Given the description of an element on the screen output the (x, y) to click on. 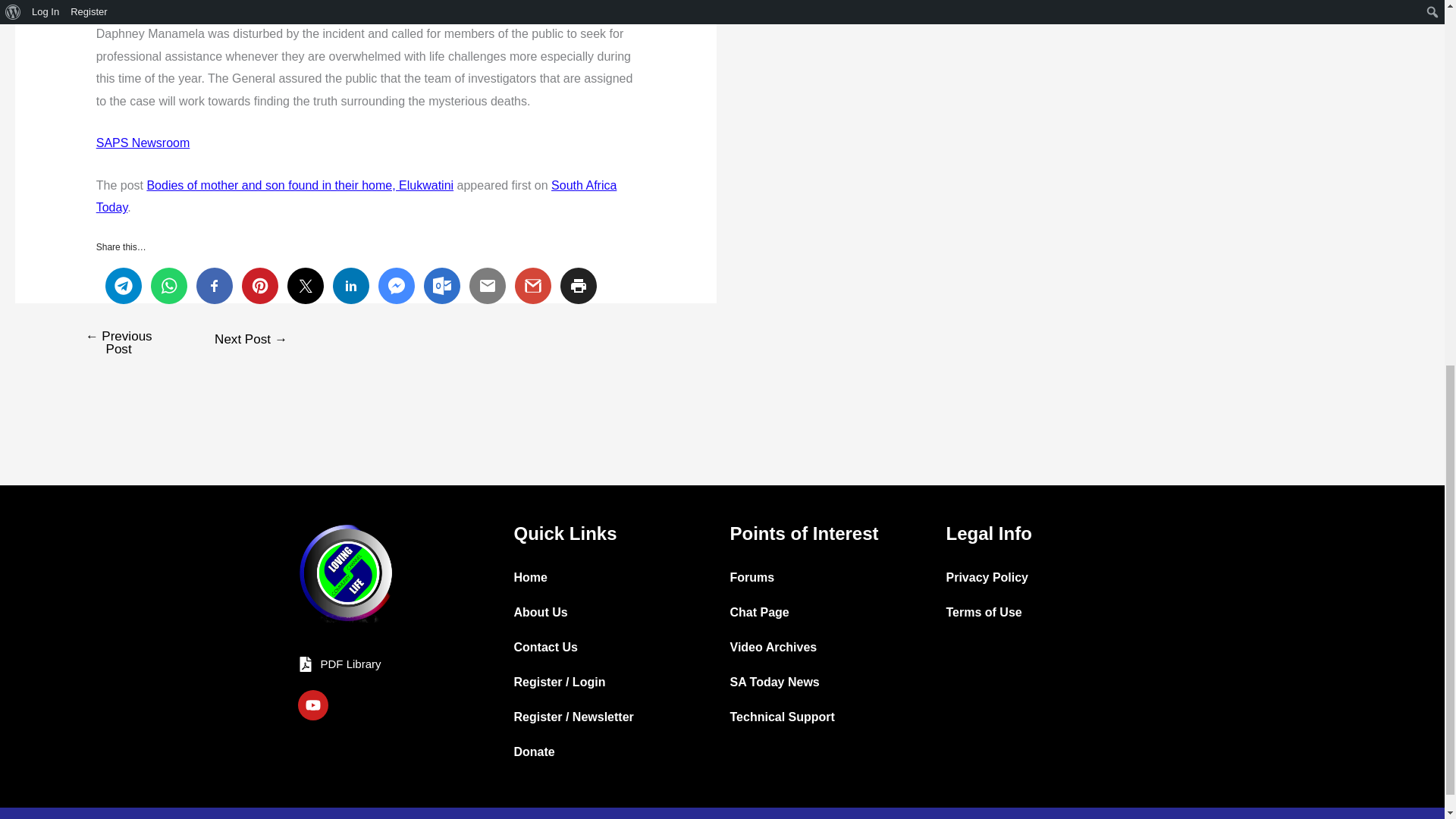
Bodies of mother and son found in their home, Elukwatini (299, 185)
South Africa Today (356, 196)
SAPS Newsroom (143, 142)
